Given the description of an element on the screen output the (x, y) to click on. 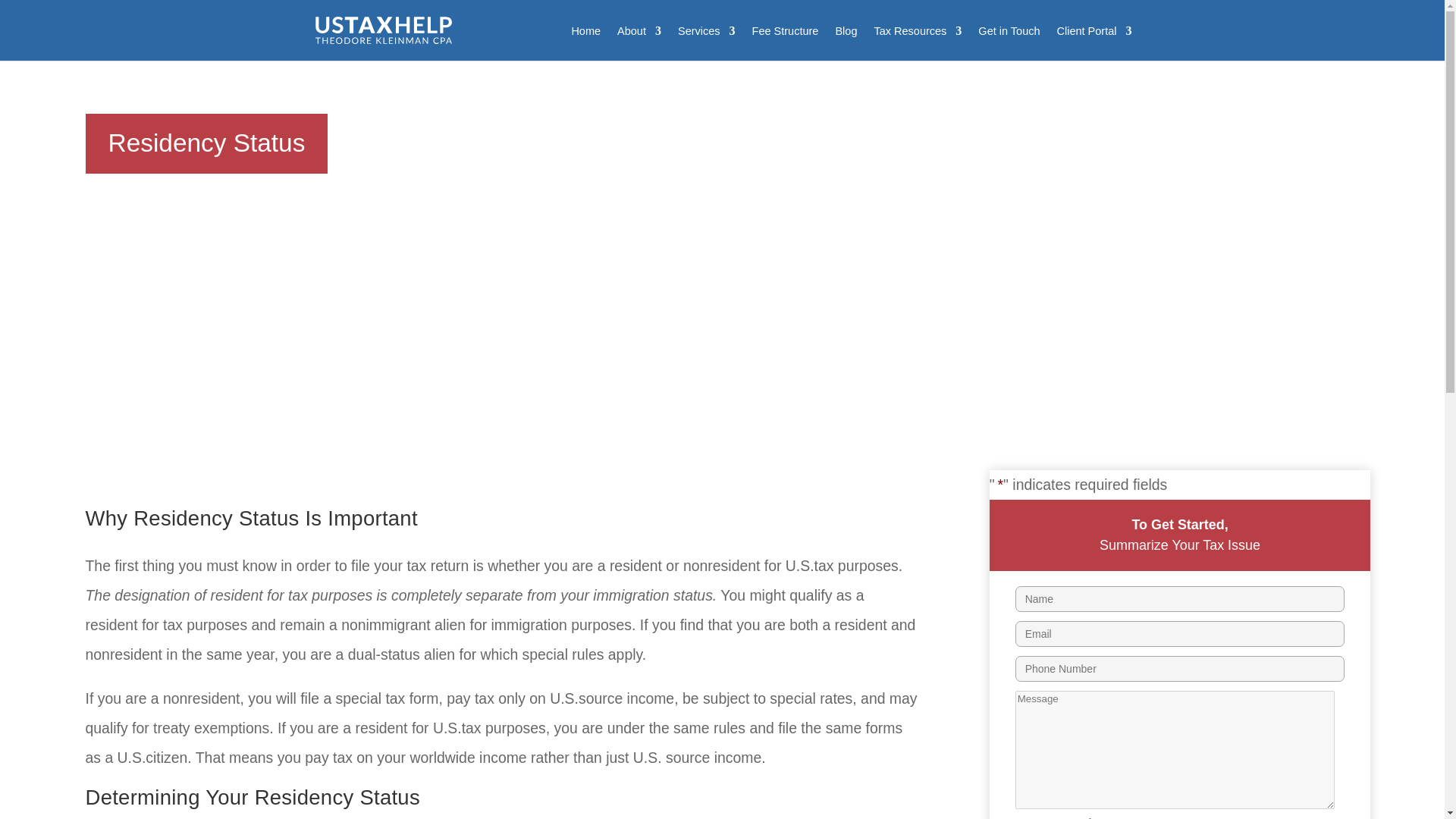
About (639, 42)
Get in Touch (1008, 42)
Tax Resources (916, 42)
Client Portal (1094, 42)
Services (706, 42)
Fee Structure (785, 42)
